Given the description of an element on the screen output the (x, y) to click on. 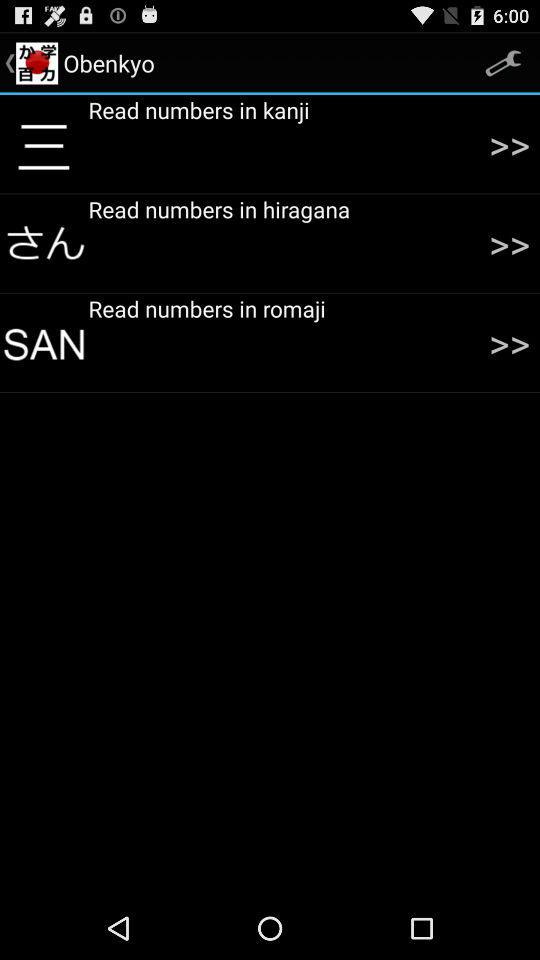
click on the settings icon which is on the top right corner of the screen (503, 63)
click on logo at top left (36, 62)
